Given the description of an element on the screen output the (x, y) to click on. 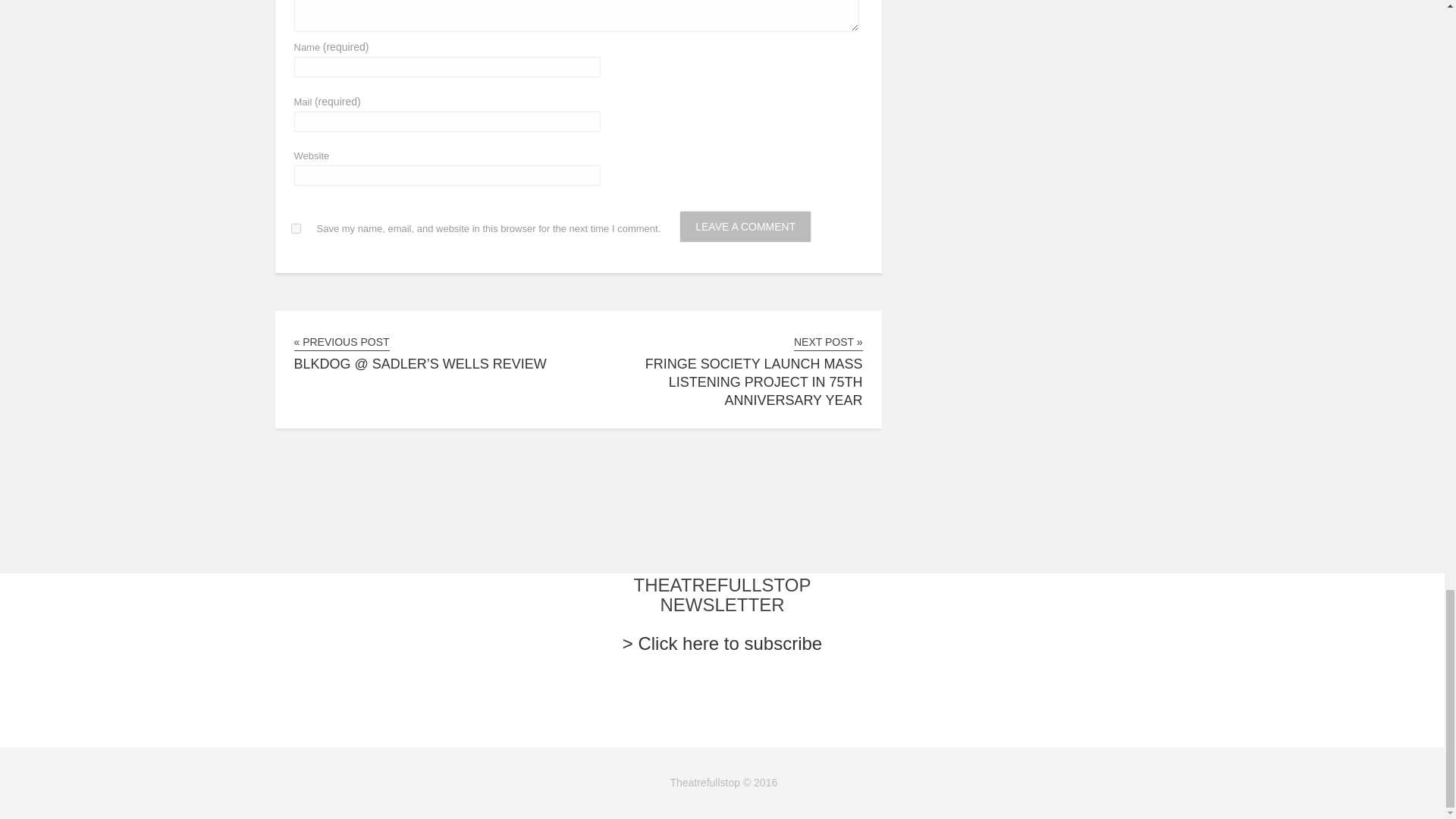
yes (295, 228)
Leave a Comment (744, 226)
